Given the description of an element on the screen output the (x, y) to click on. 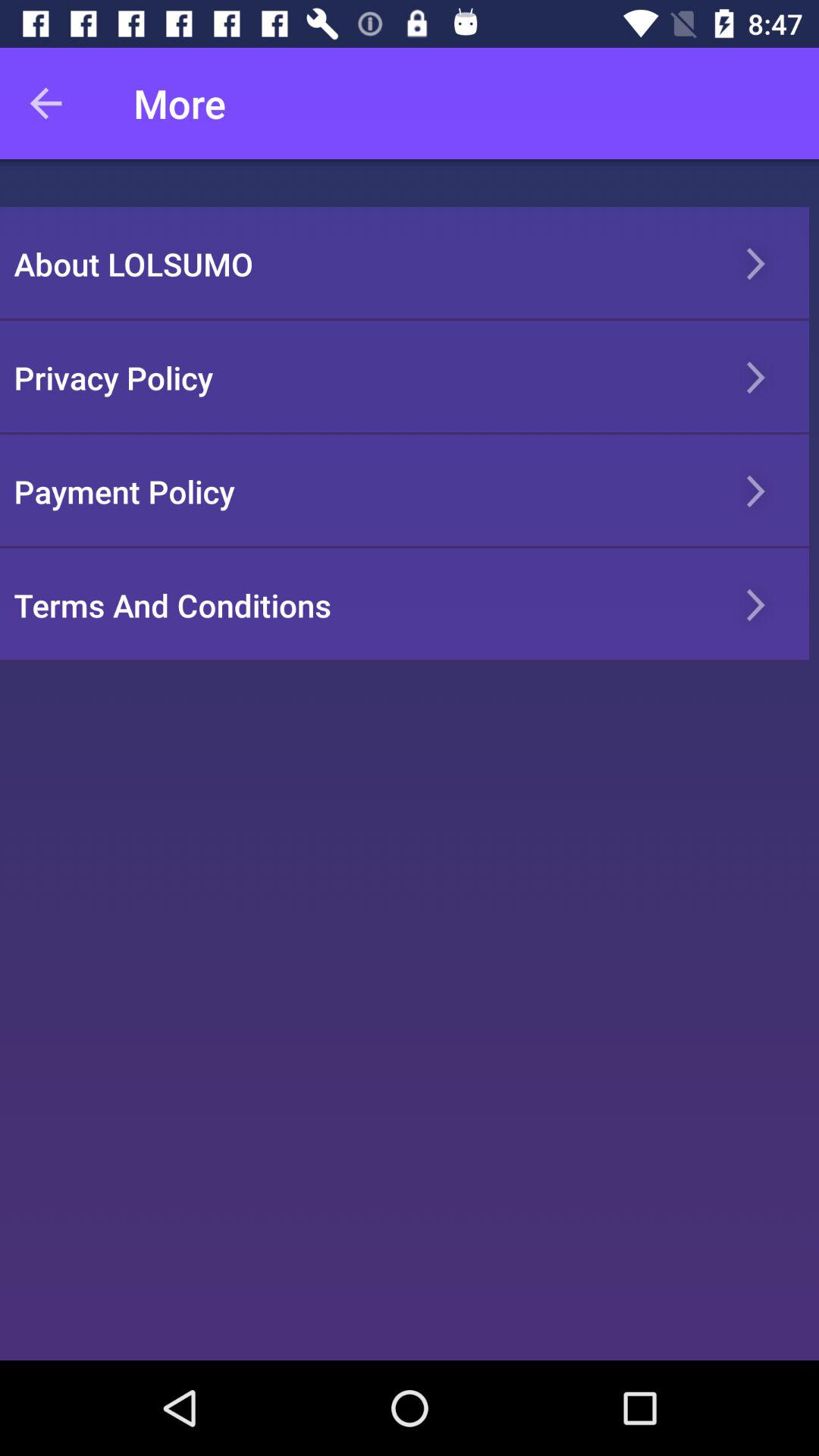
press item to the left of more (55, 103)
